Given the description of an element on the screen output the (x, y) to click on. 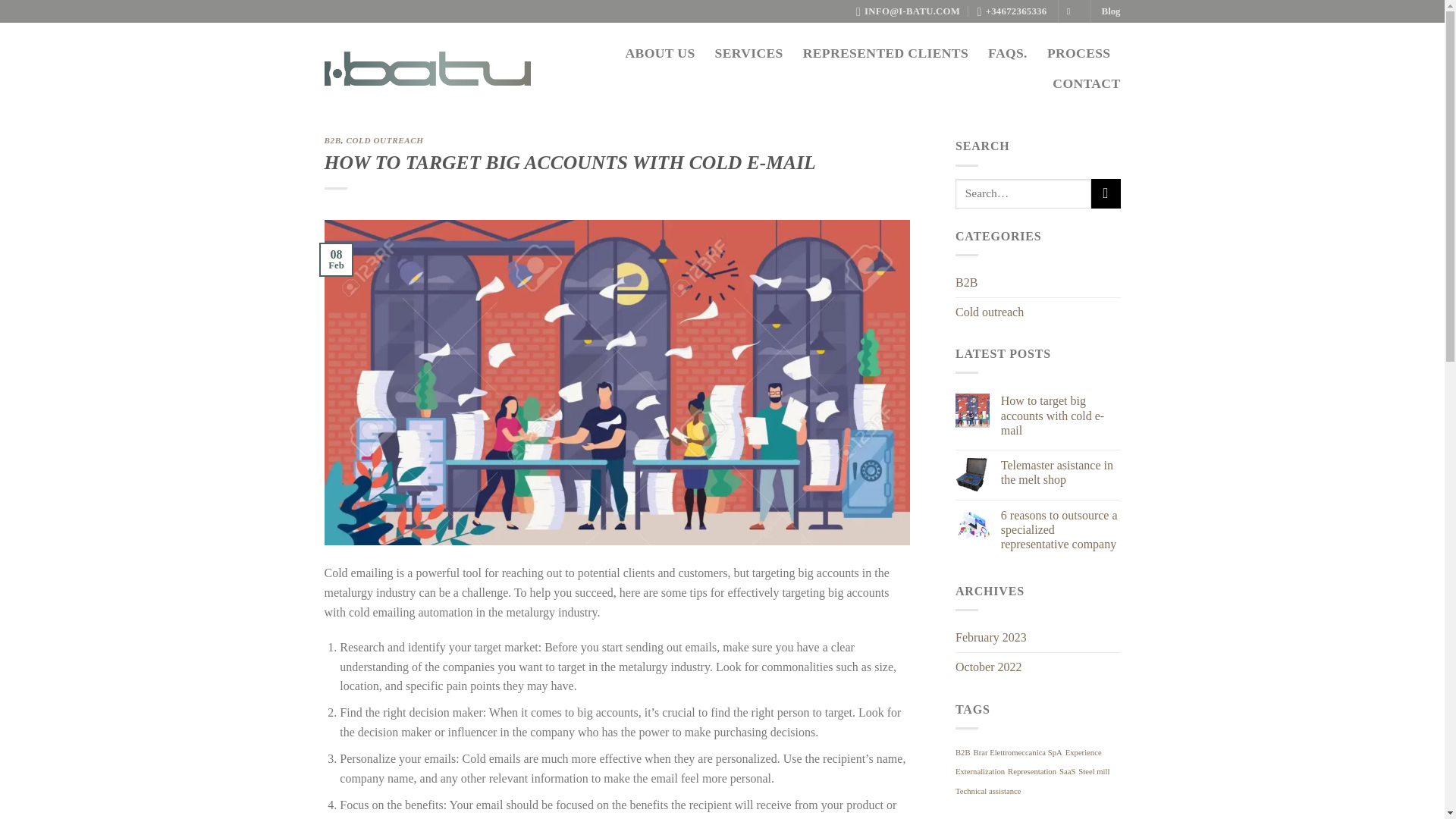
October 2022 (988, 666)
B2B (963, 752)
February 2023 (990, 637)
How to target big accounts with cold e-mail (1061, 415)
SERVICES (748, 52)
Blog (1111, 11)
Telemaster asistance in the melt shop (1061, 471)
6 reasons to outsource a specialized representative company (1061, 529)
B2B (332, 139)
Cold outreach (989, 312)
Experience (1083, 752)
FAQS. (1007, 52)
REPRESENTED CLIENTS (885, 52)
CONTACT (1085, 82)
